Given the description of an element on the screen output the (x, y) to click on. 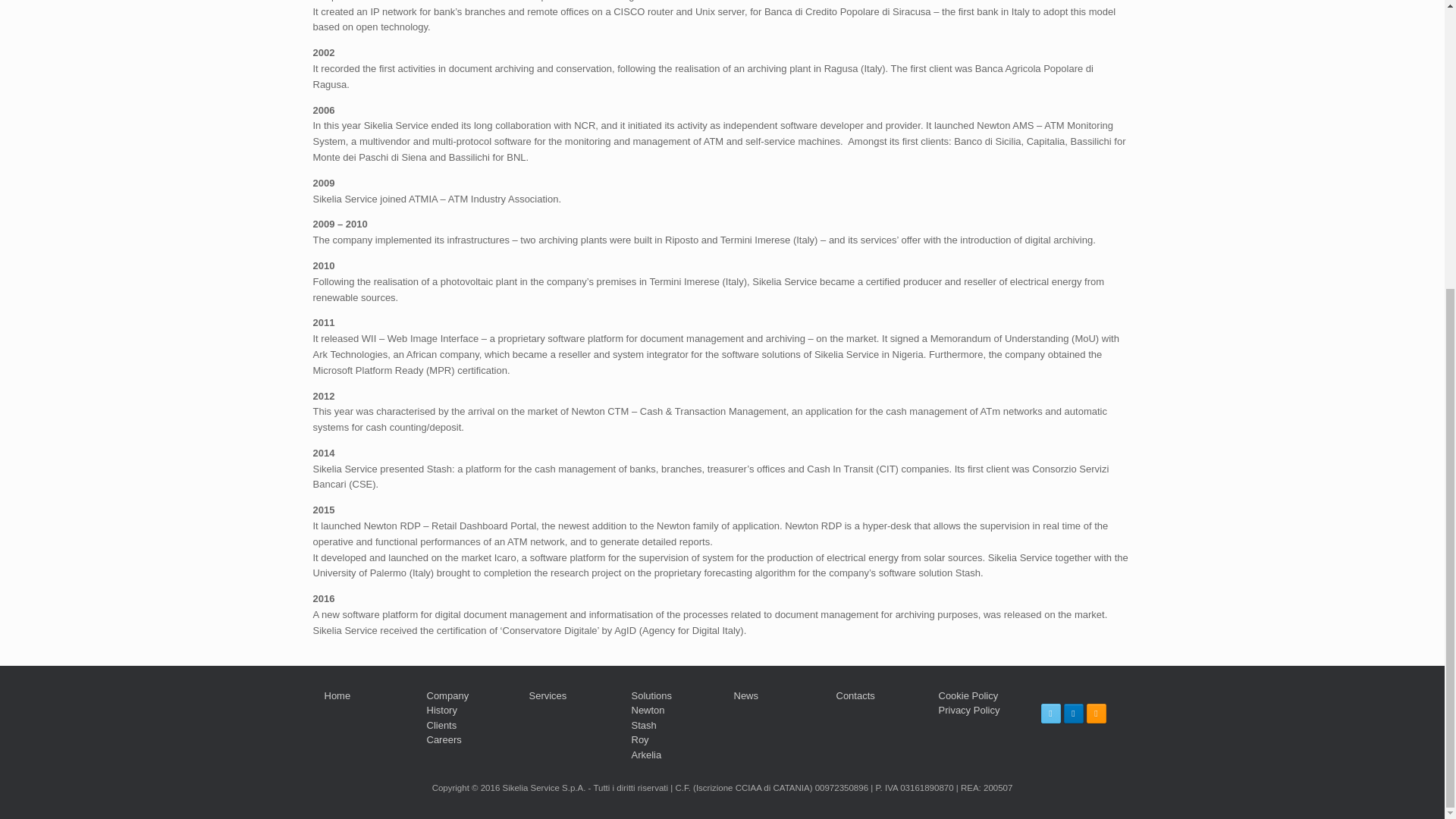
Careers (443, 739)
Solutions (650, 695)
Newton (646, 709)
Company (447, 695)
Home (337, 695)
Sikelia Service RSS (1095, 713)
Contacts (855, 695)
News (745, 695)
History (441, 709)
Clients (441, 725)
